Given the description of an element on the screen output the (x, y) to click on. 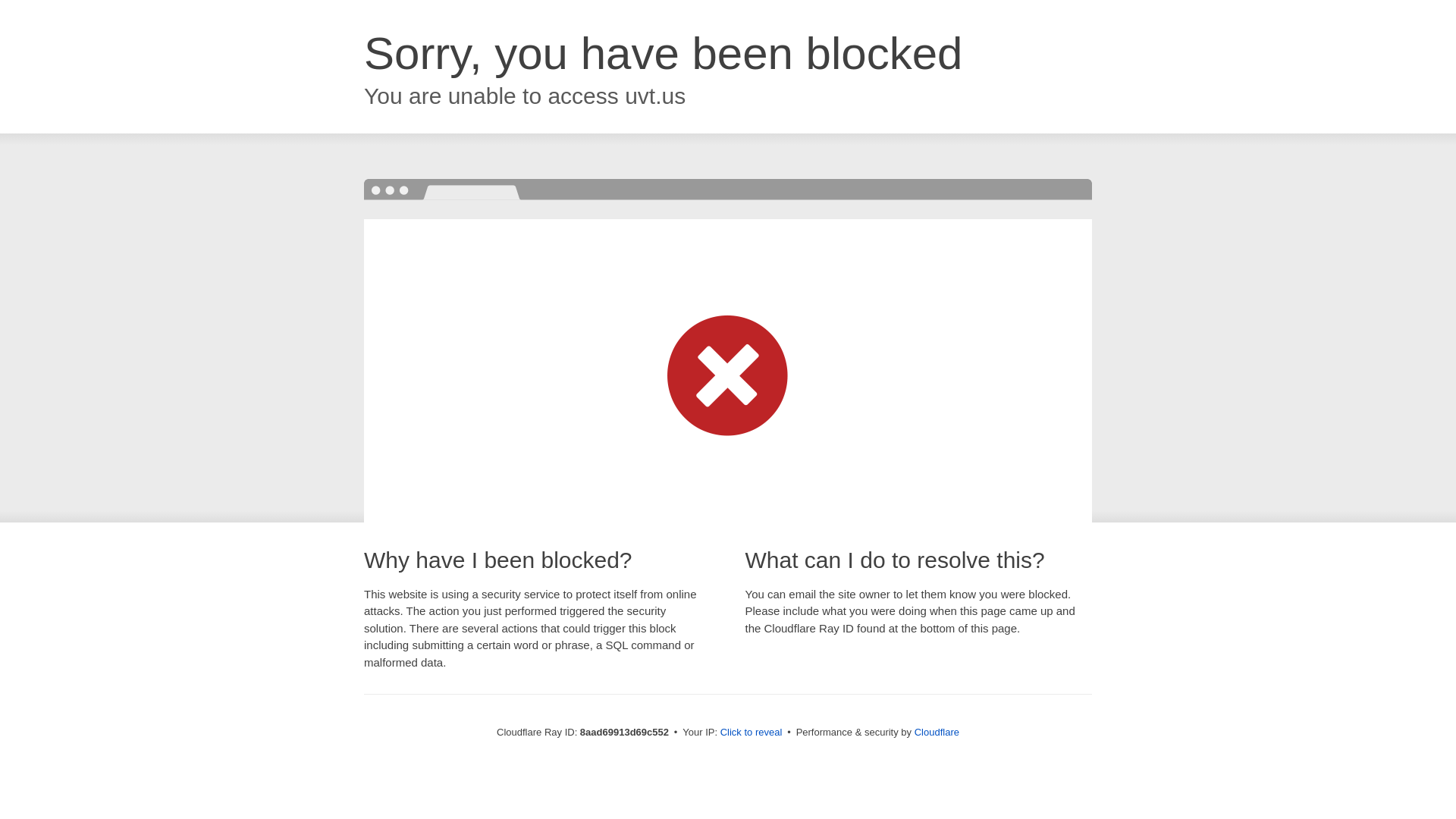
Click to reveal (751, 732)
Cloudflare (936, 731)
